Given the description of an element on the screen output the (x, y) to click on. 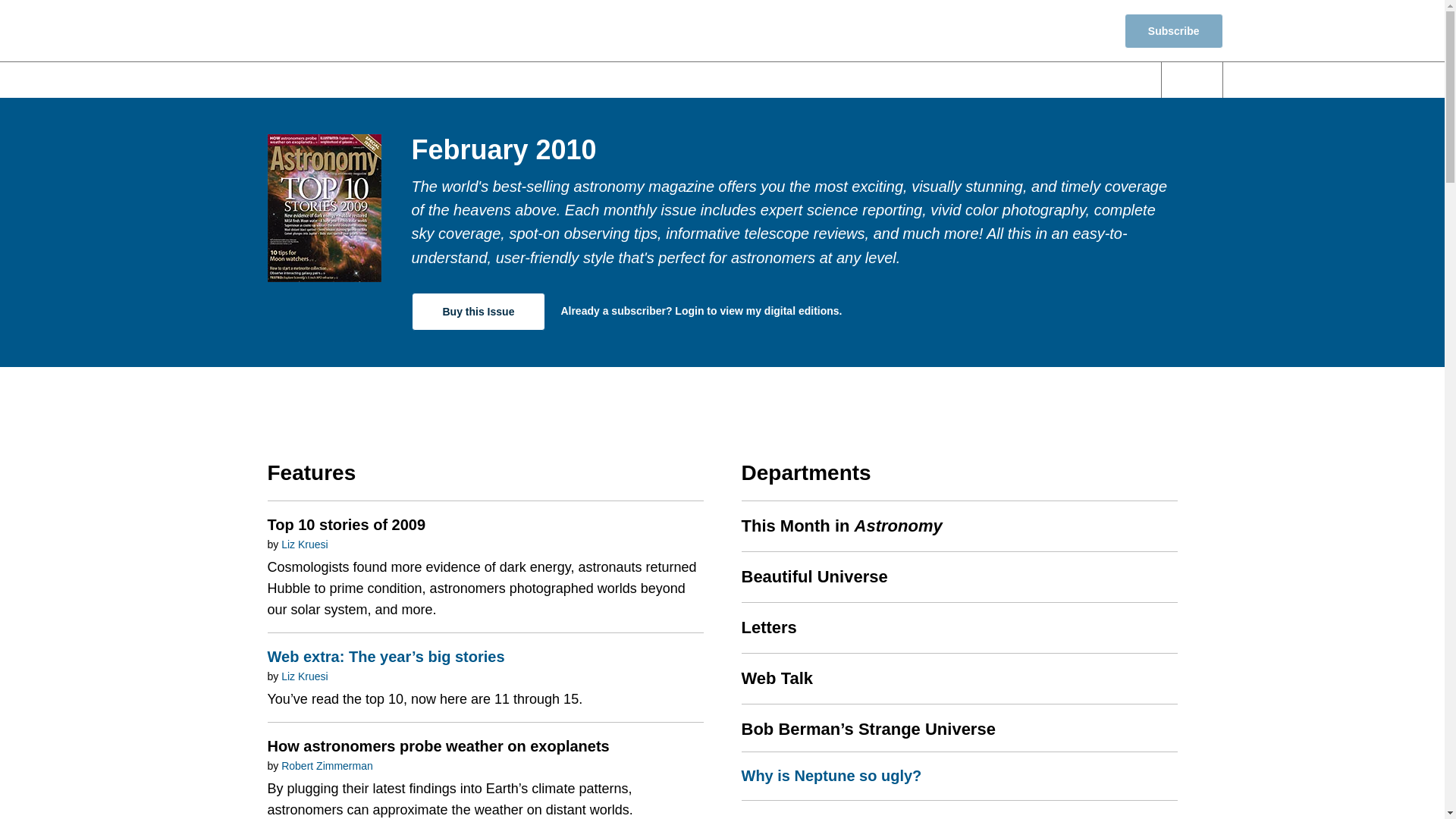
Search (1192, 79)
Ask Astro (1096, 79)
Science (618, 79)
Space Exploration (850, 79)
Subscribe (1173, 30)
Shop (1081, 30)
News (532, 79)
The Magazine (987, 79)
Observing (720, 79)
